Given the description of an element on the screen output the (x, y) to click on. 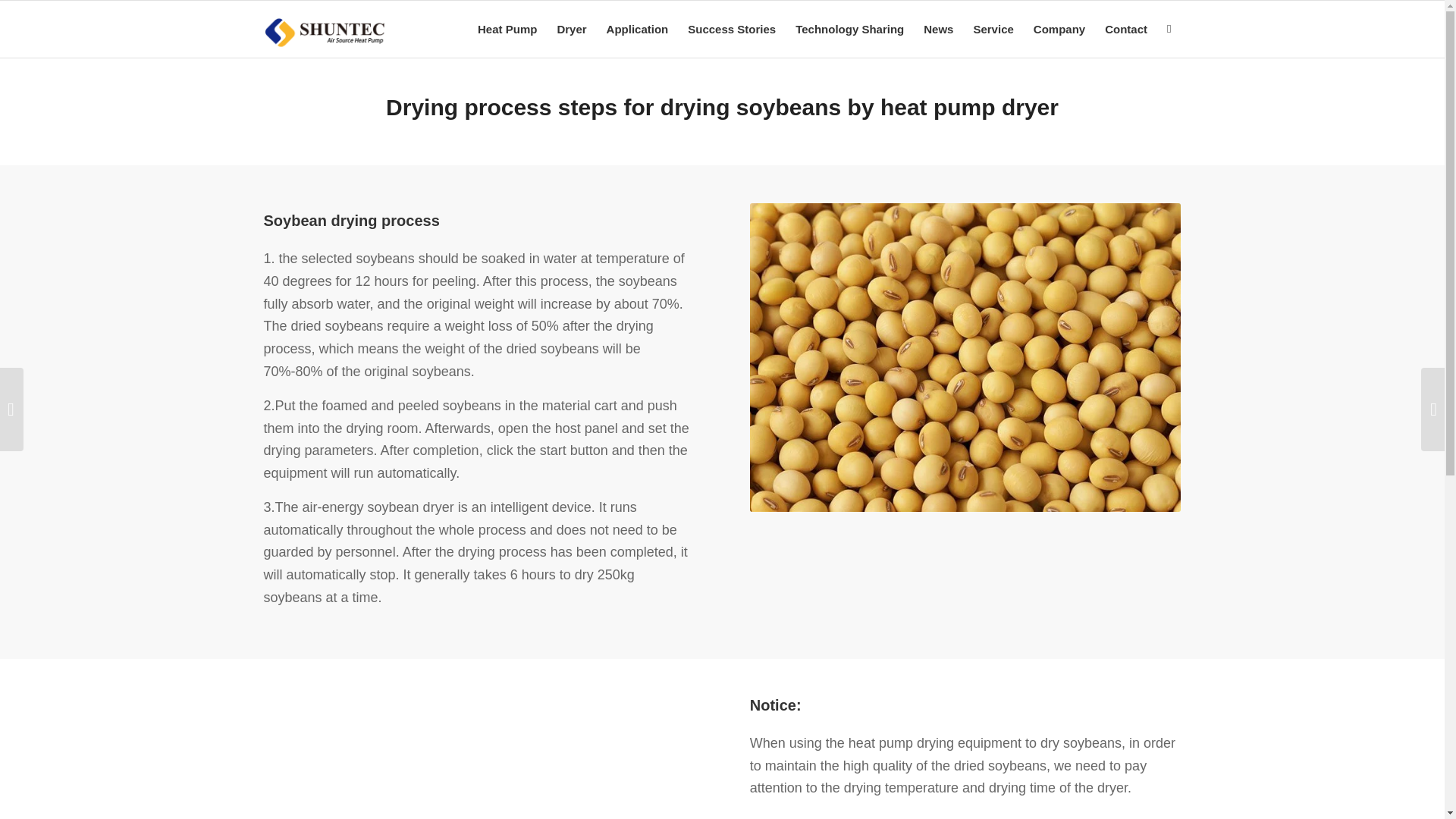
drying-of-Soybean-process (964, 357)
Application (637, 28)
Technology Sharing (850, 28)
drying-soybeans-by-heat-pump-dryer (479, 757)
Success Stories (732, 28)
Heat Pump (507, 28)
